Given the description of an element on the screen output the (x, y) to click on. 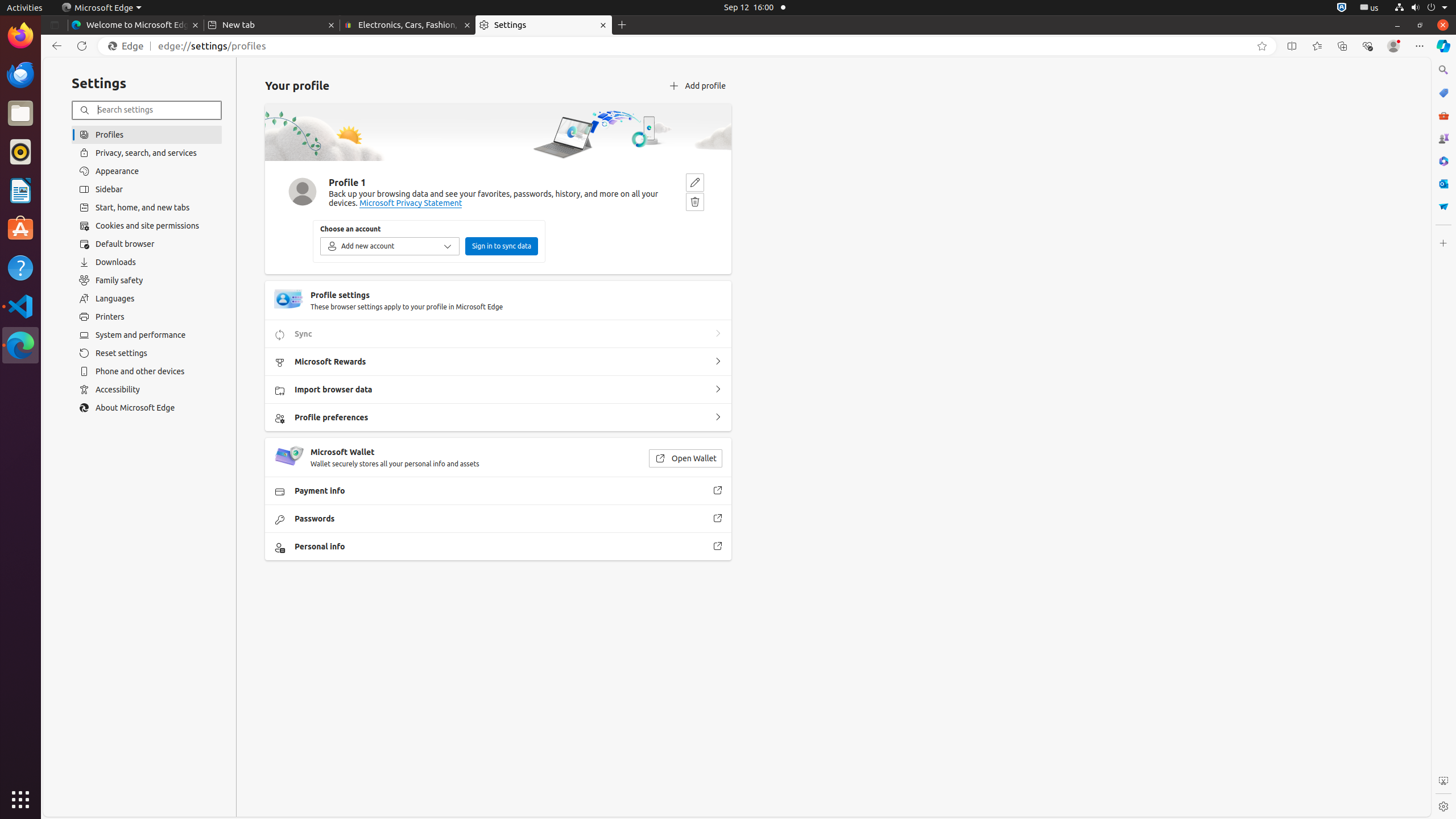
Accessibility Element type: tree-item (146, 389)
Settings Element type: page-tab (543, 25)
:1.21/StatusNotifierItem Element type: menu (1369, 7)
Default browser Element type: tree-item (146, 243)
Microsoft Privacy Statement Element type: link (410, 203)
